Given the description of an element on the screen output the (x, y) to click on. 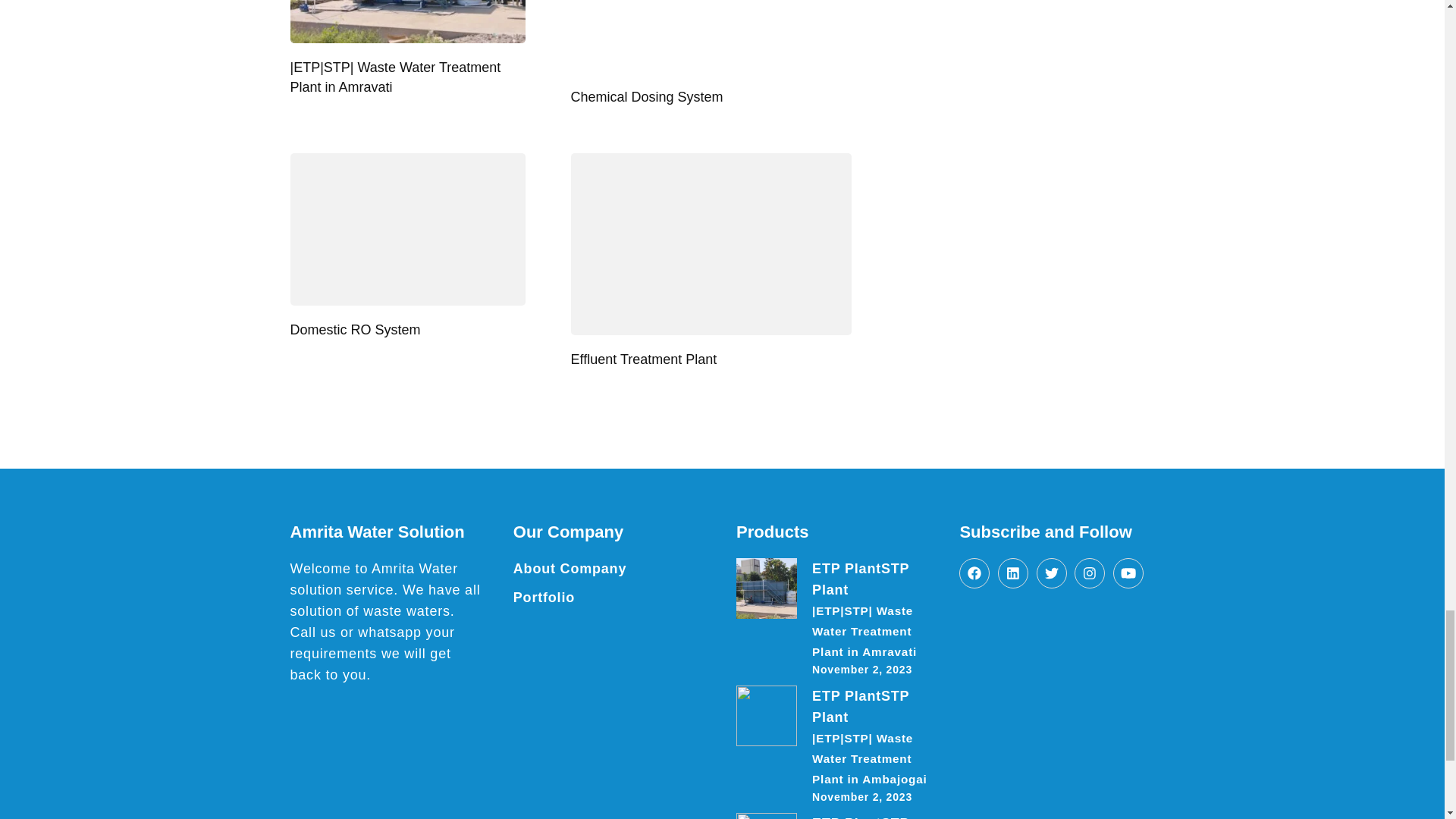
twitter (1051, 572)
youtube (1127, 572)
facebook (974, 572)
instagram (1089, 572)
linkedin (1012, 572)
